Given the description of an element on the screen output the (x, y) to click on. 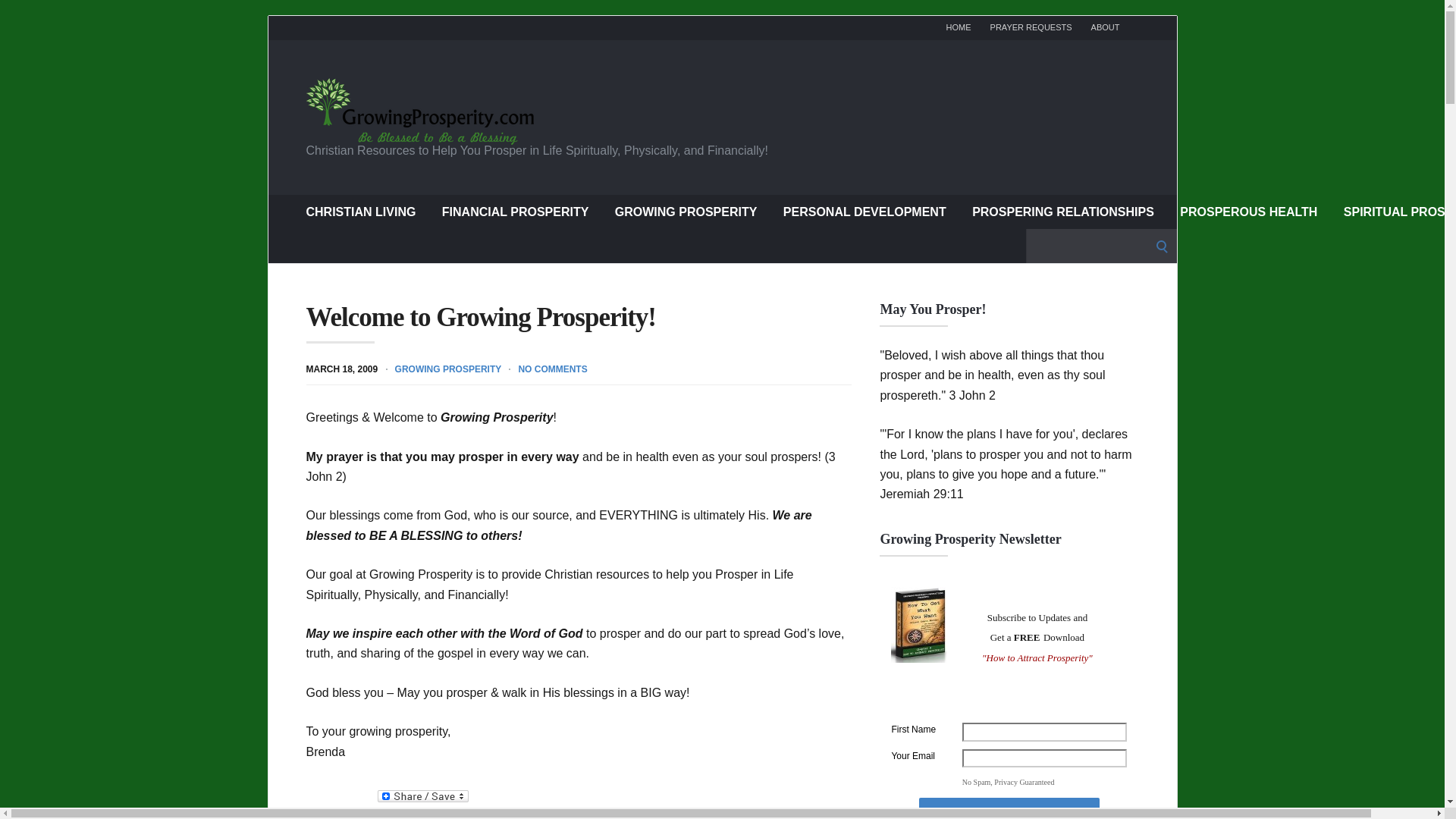
HOME (958, 27)
FINANCIAL PROSPERITY (515, 211)
CHRISTIAN LIVING (360, 211)
PROSPEROUS HEALTH (1248, 211)
Send Me Prosperity Resources (1009, 808)
PRAYER REQUESTS (1030, 27)
PROSPERING RELATIONSHIPS (1063, 211)
ABOUT (1104, 27)
PERSONAL DEVELOPMENT (864, 211)
GROWING PROSPERITY (685, 211)
